Given the description of an element on the screen output the (x, y) to click on. 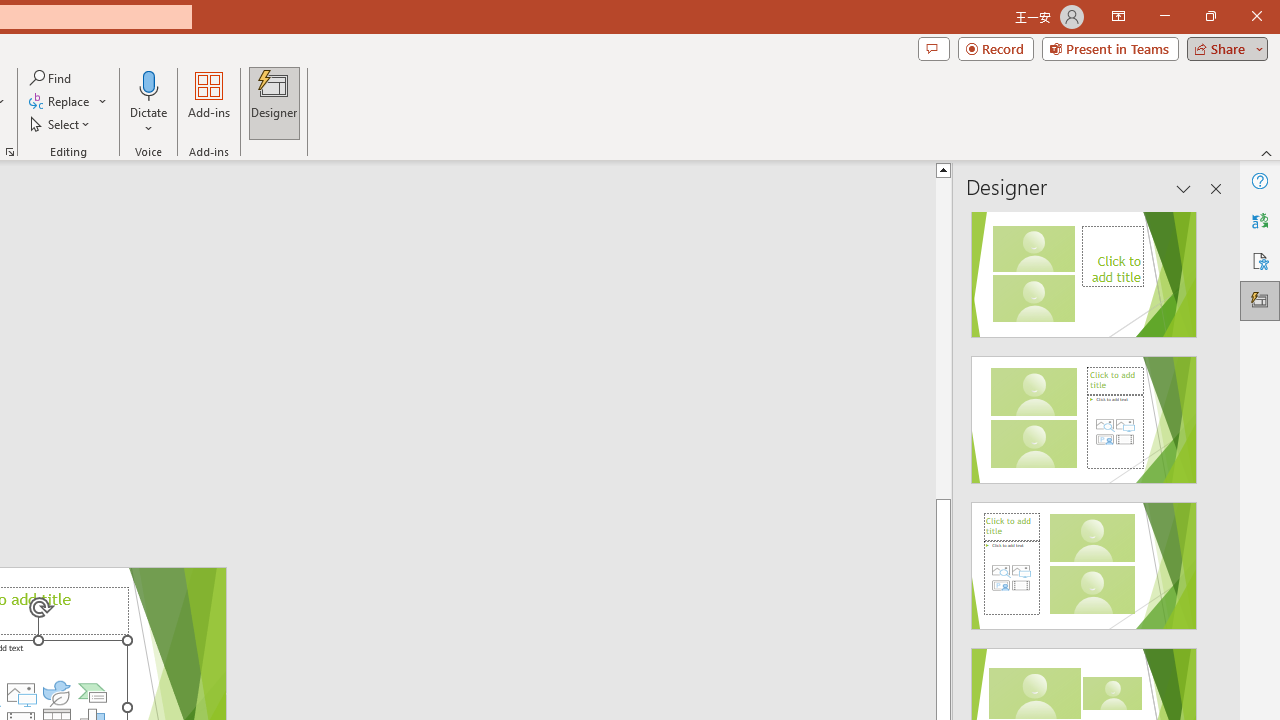
Design Idea (1083, 559)
